Given the description of an element on the screen output the (x, y) to click on. 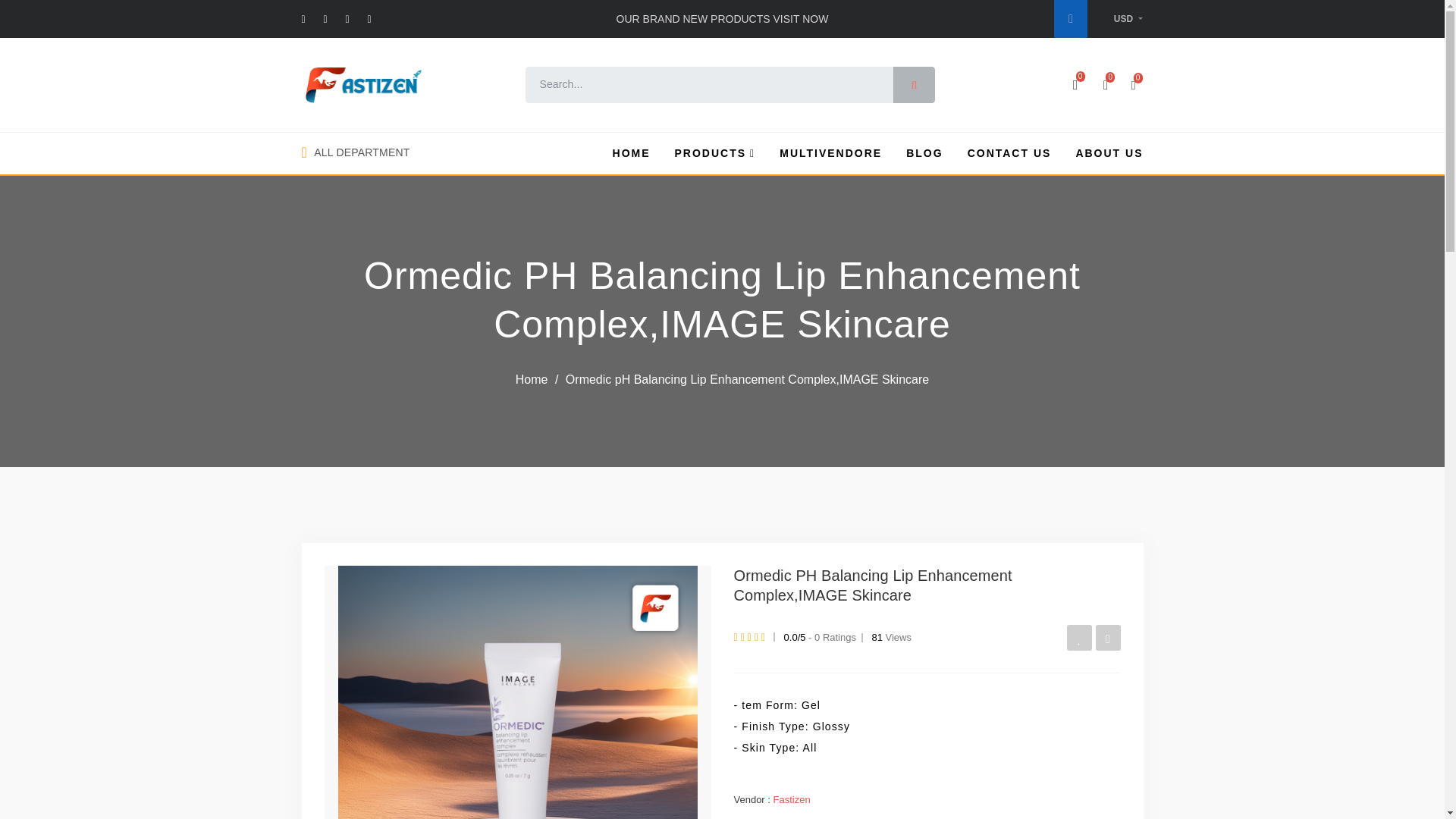
USD (1127, 19)
Add Wish (1079, 637)
Add Compare (1106, 637)
